Given the description of an element on the screen output the (x, y) to click on. 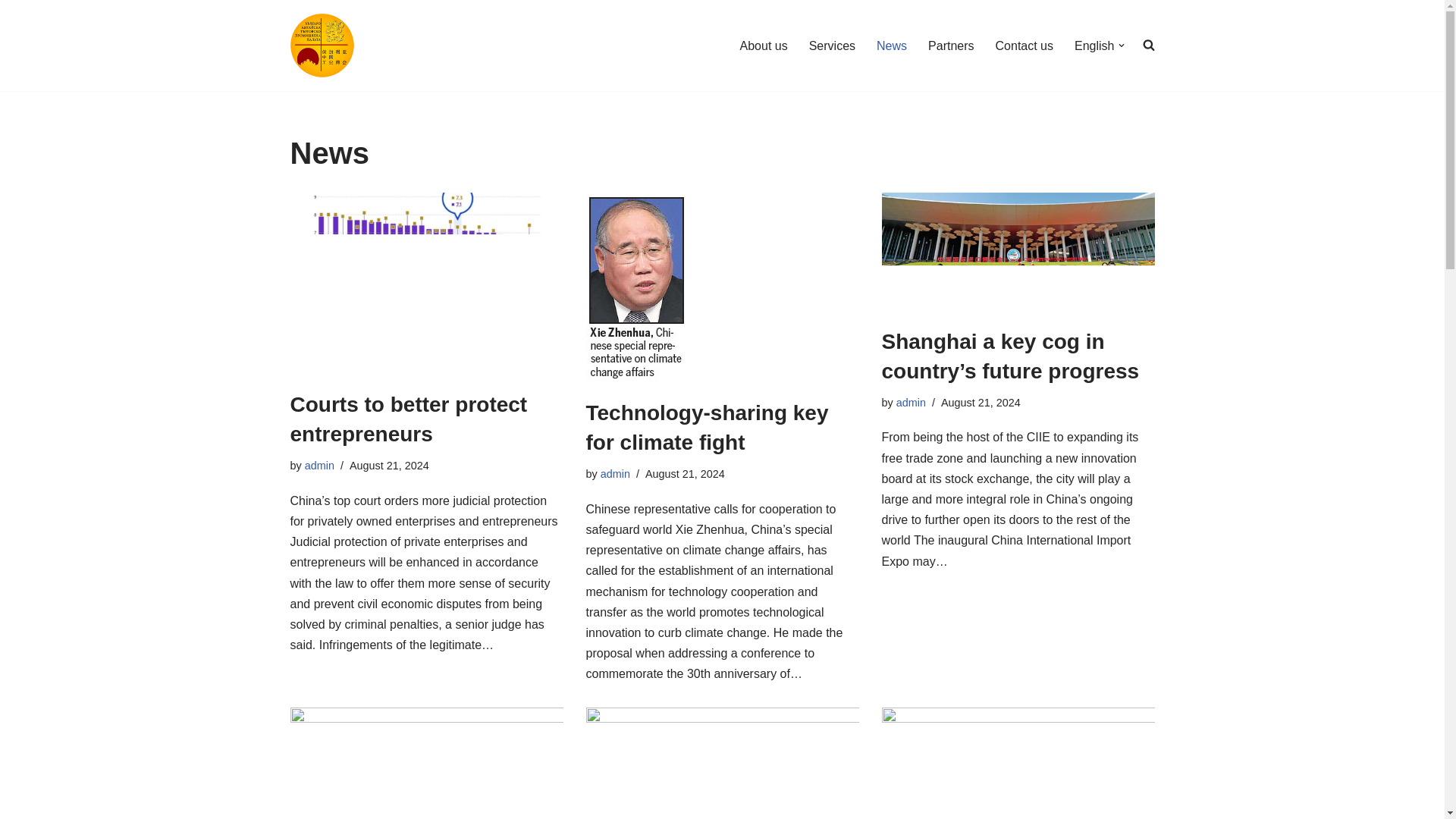
Partners (951, 46)
Posts by admin (911, 402)
admin (319, 465)
Technology-sharing key for climate fight (722, 287)
Courts to better protect entrepreneurs (408, 419)
Technology-sharing key for climate fight (706, 427)
admin (614, 473)
News (891, 46)
Government help urged in phasing out straws (425, 763)
admin (911, 402)
